Given the description of an element on the screen output the (x, y) to click on. 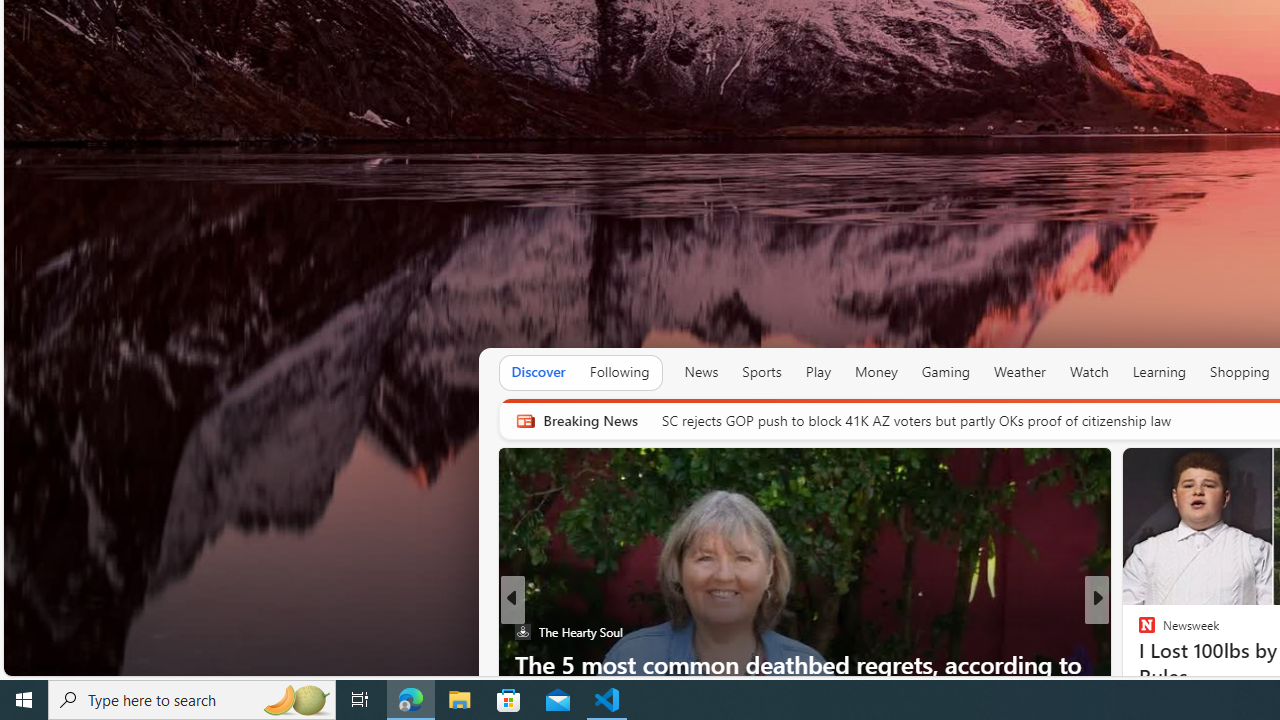
Wealth of Geeks (1138, 632)
talker (1138, 632)
Body Network (1138, 632)
save70.com (1161, 663)
